Given the description of an element on the screen output the (x, y) to click on. 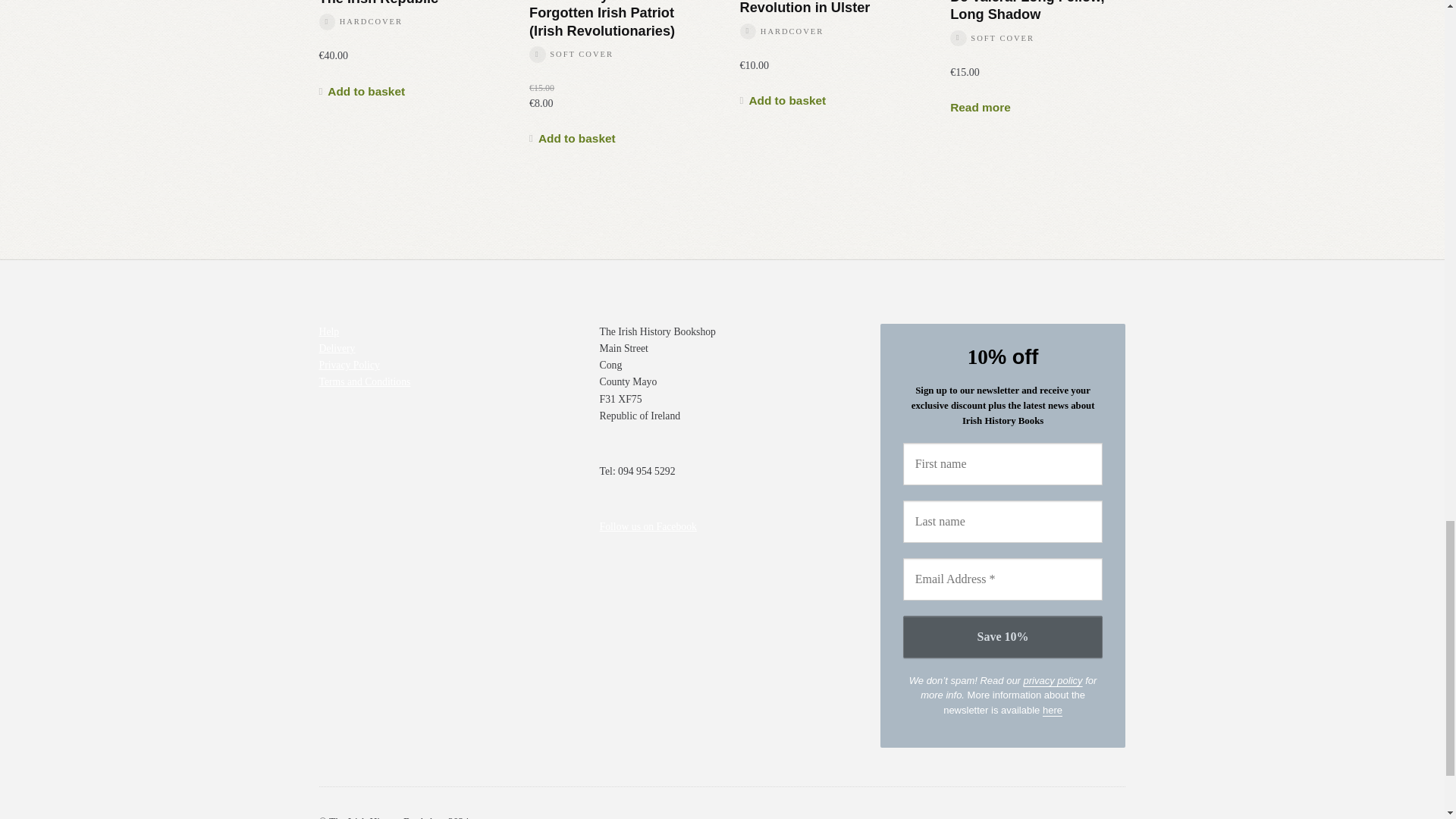
Email Address (1002, 578)
Last name (1002, 521)
First name (1002, 464)
